Given the description of an element on the screen output the (x, y) to click on. 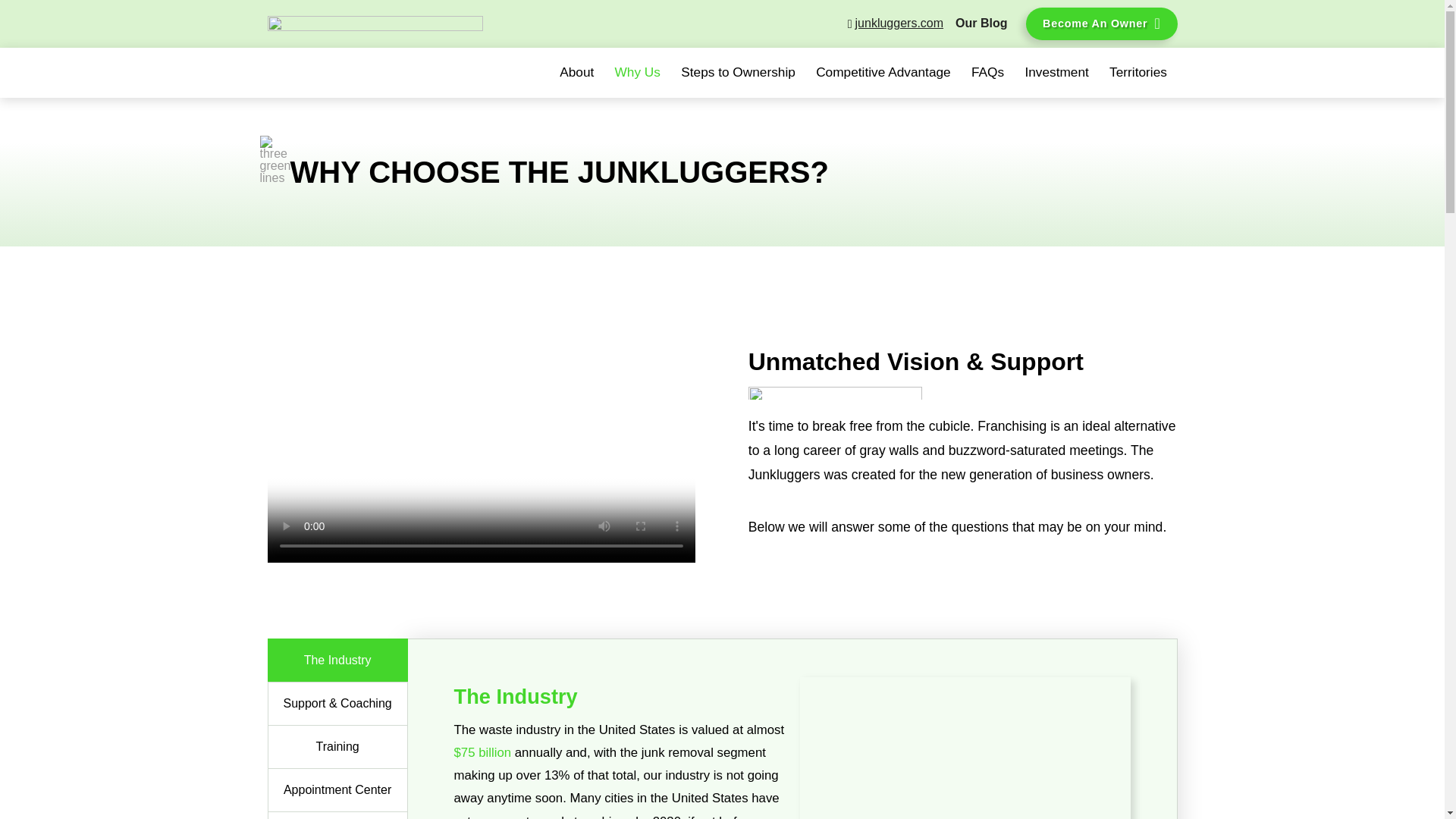
Appointment Center (336, 789)
FAQs (986, 72)
The Industry (336, 659)
About (576, 72)
Why Us (637, 72)
junkluggers.com (894, 23)
Our Blog (981, 23)
Investment (1056, 72)
Steps to Ownership (738, 72)
Become An Owner (1100, 23)
